Given the description of an element on the screen output the (x, y) to click on. 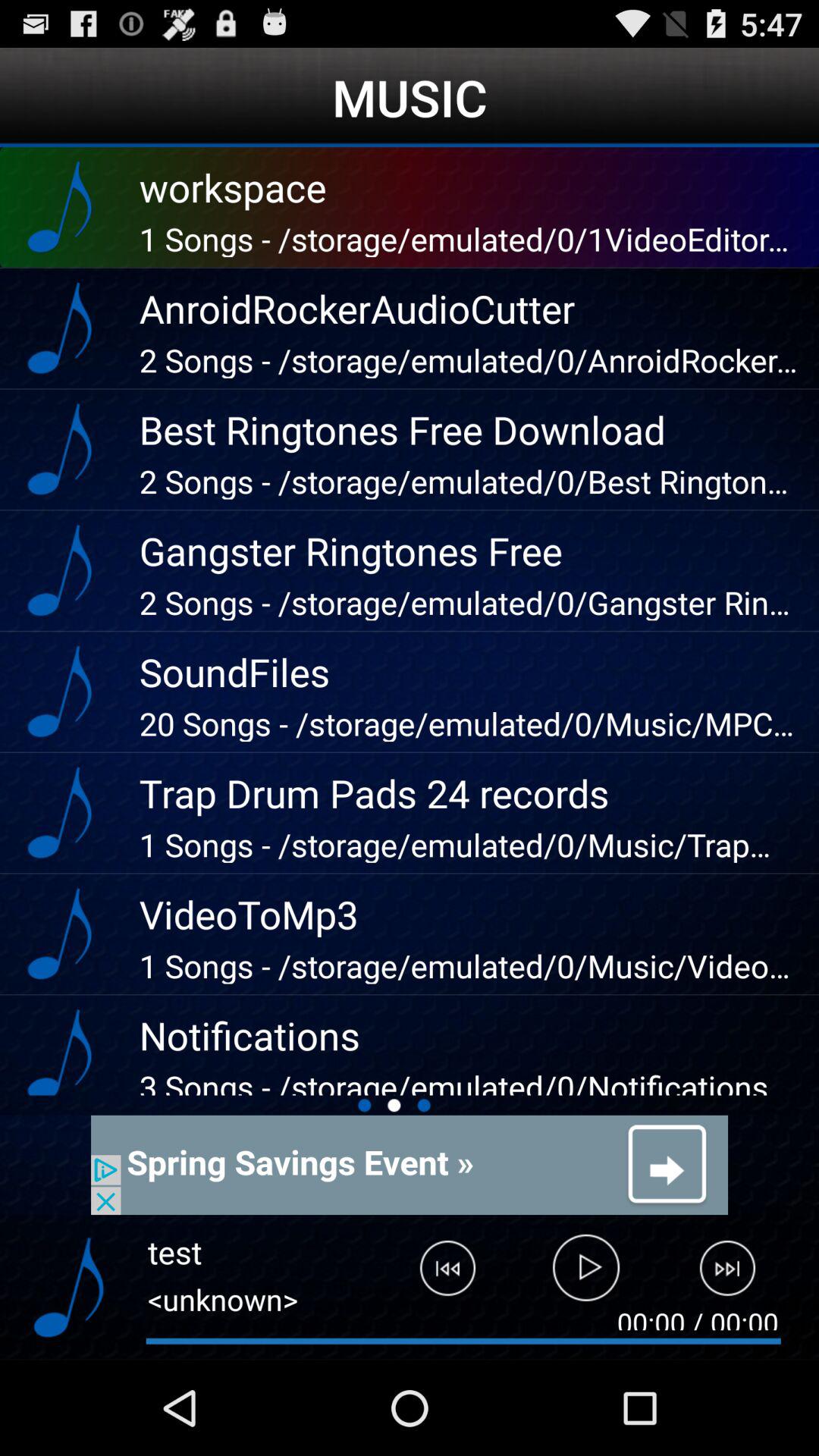
click previous play button (436, 1274)
